Given the description of an element on the screen output the (x, y) to click on. 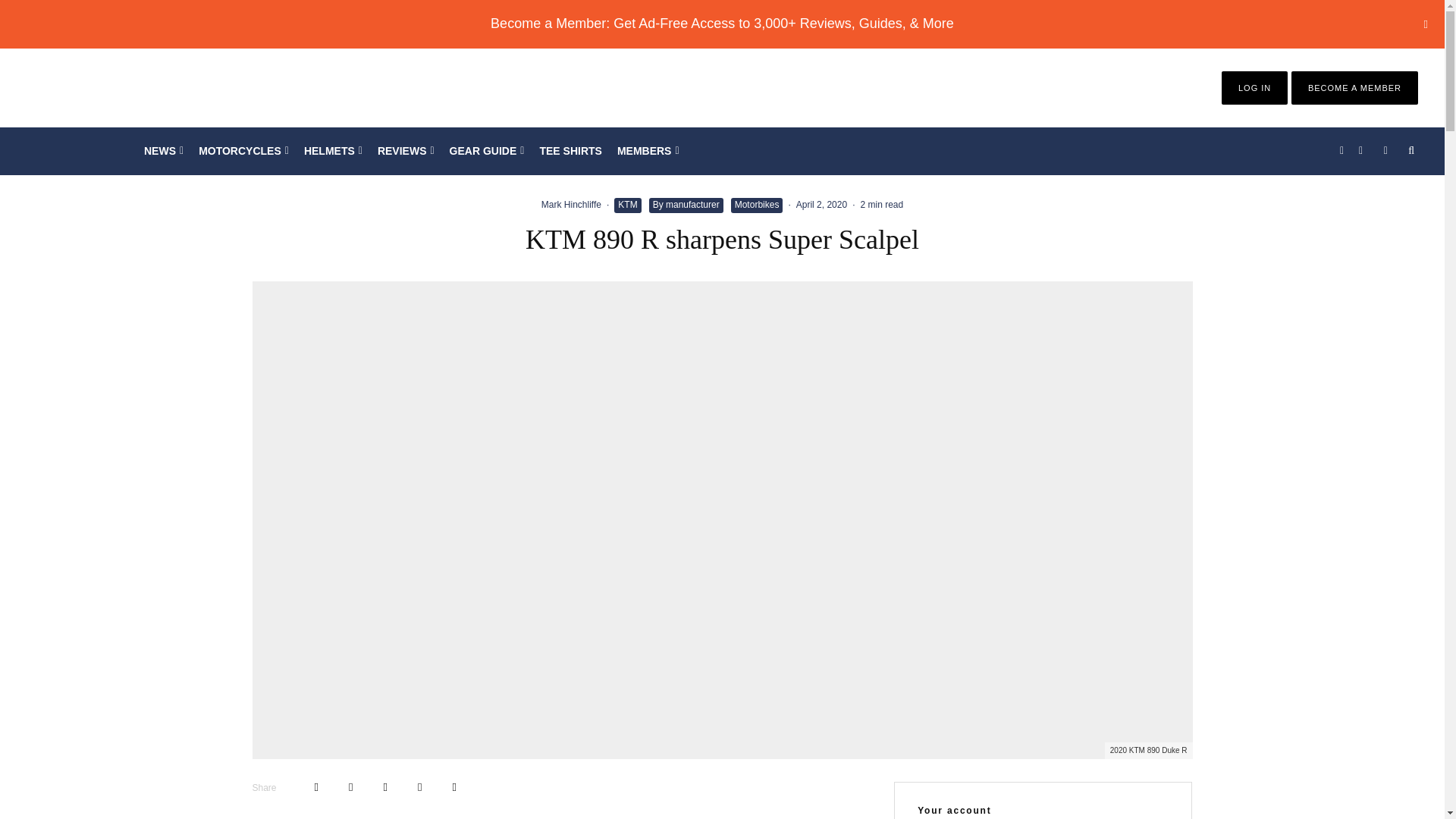
MOTORCYCLES (243, 150)
NEWS (163, 150)
LOG IN (1255, 87)
BECOME A MEMBER (1353, 87)
